Given the description of an element on the screen output the (x, y) to click on. 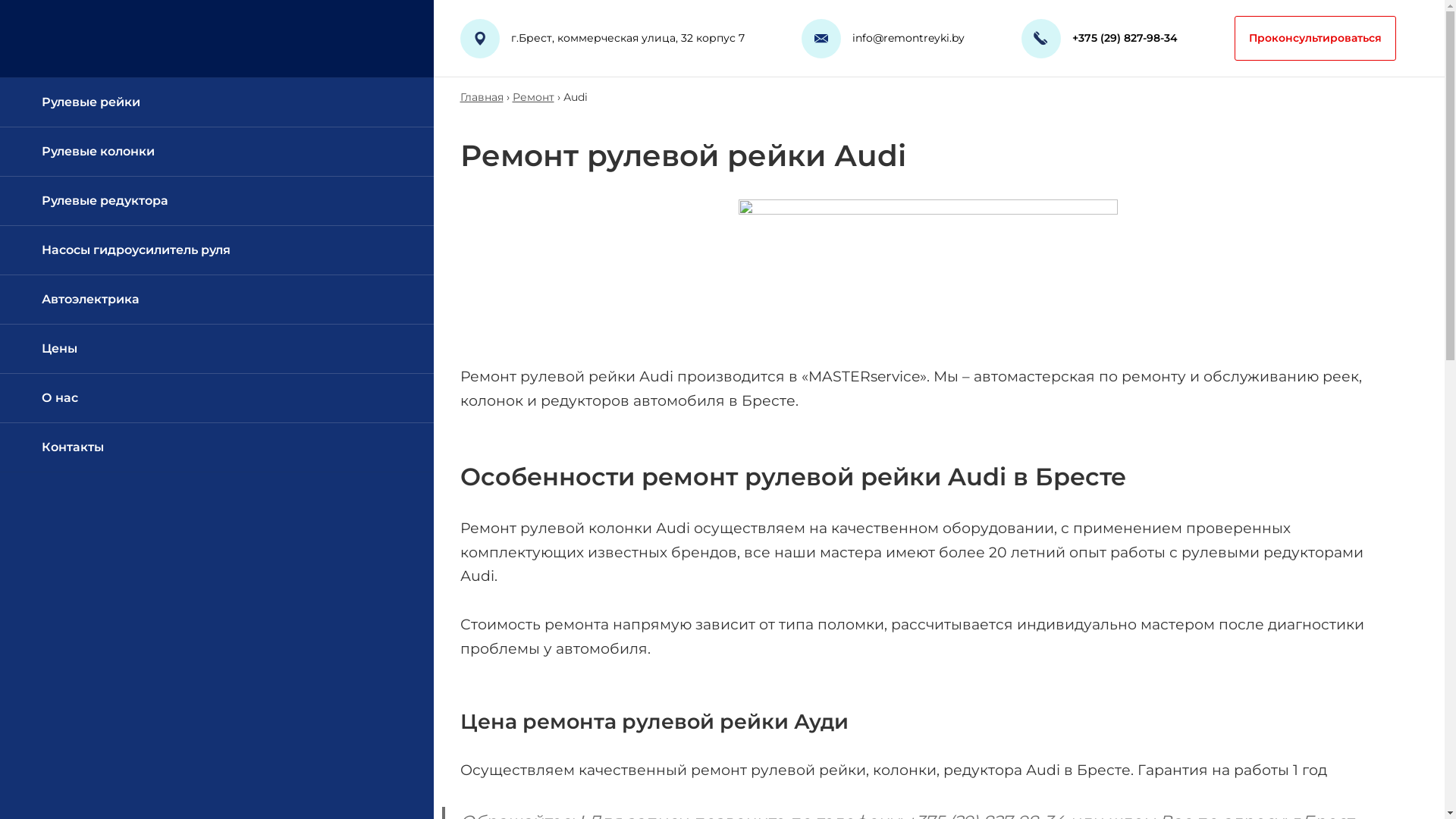
+375 (29) 827-98-34 Element type: text (1124, 37)
info@remontreyki.by Element type: text (908, 37)
